Given the description of an element on the screen output the (x, y) to click on. 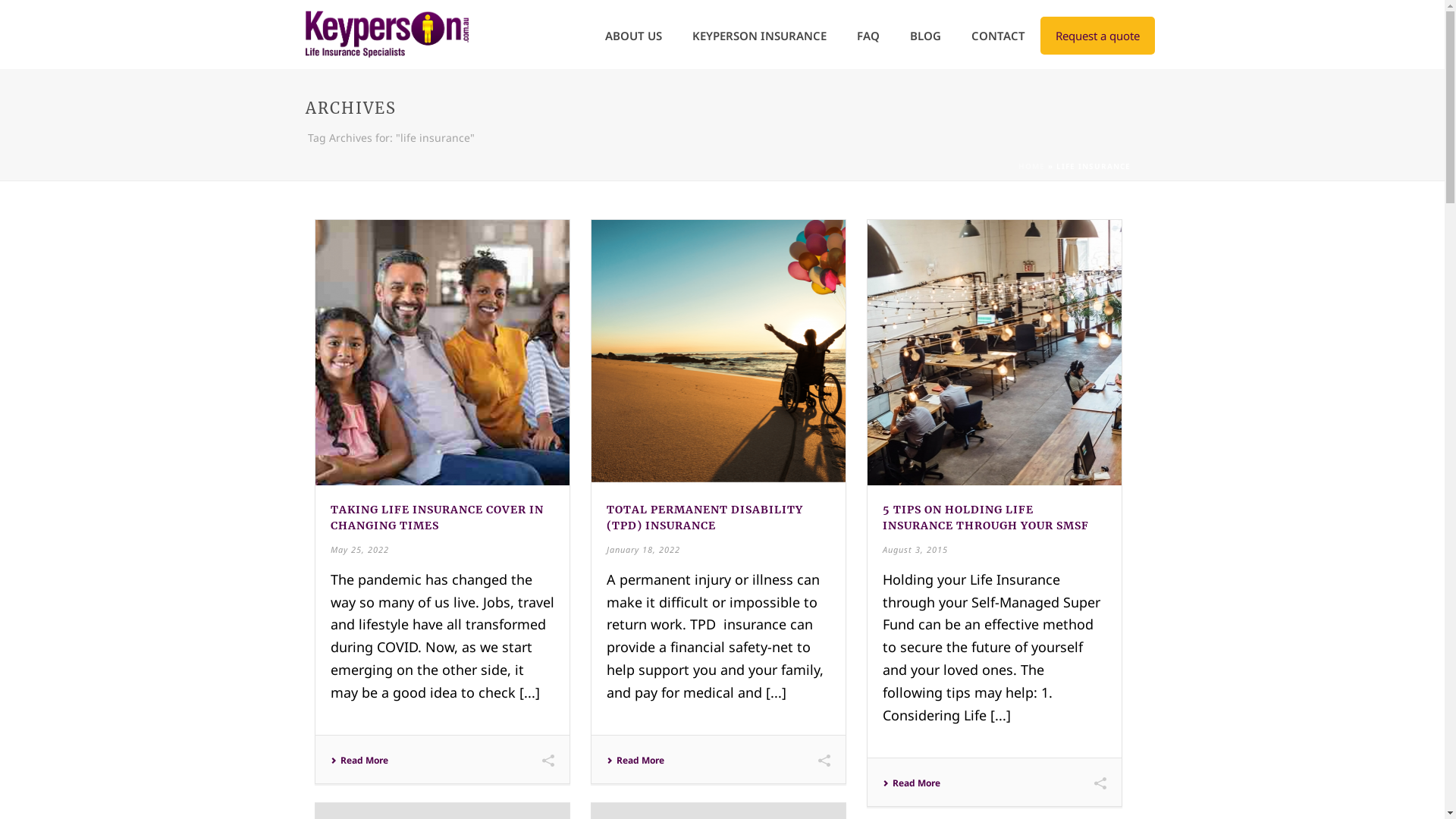
August 3, 2015 Element type: text (914, 548)
  Element type: text (718, 352)
HOME Element type: text (1030, 165)
Read More Element type: text (635, 760)
TAKING LIFE INSURANCE COVER IN CHANGING TIMES Element type: text (436, 516)
Read More Element type: text (911, 782)
Read More Element type: text (359, 760)
May 25, 2022 Element type: text (359, 548)
Total Permanent Disability (TPD) Insurance Element type: hover (718, 352)
January 18, 2022 Element type: text (643, 548)
  Element type: text (994, 352)
TOTAL PERMANENT DISABILITY (TPD) INSURANCE Element type: text (704, 516)
Taking Life Insurance Cover in Changing Times Element type: hover (442, 352)
KEYPERSON INSURANCE Element type: text (758, 35)
FAQ Element type: text (867, 35)
  Element type: text (442, 352)
Request a quote Element type: text (1097, 35)
5 TIPS ON HOLDING LIFE INSURANCE THROUGH YOUR SMSF Element type: text (985, 516)
5 tips on holding Life Insurance through your SMSF Element type: hover (994, 352)
CONTACT Element type: text (997, 35)
BLOG Element type: text (925, 35)
ABOUT US Element type: text (633, 35)
